Given the description of an element on the screen output the (x, y) to click on. 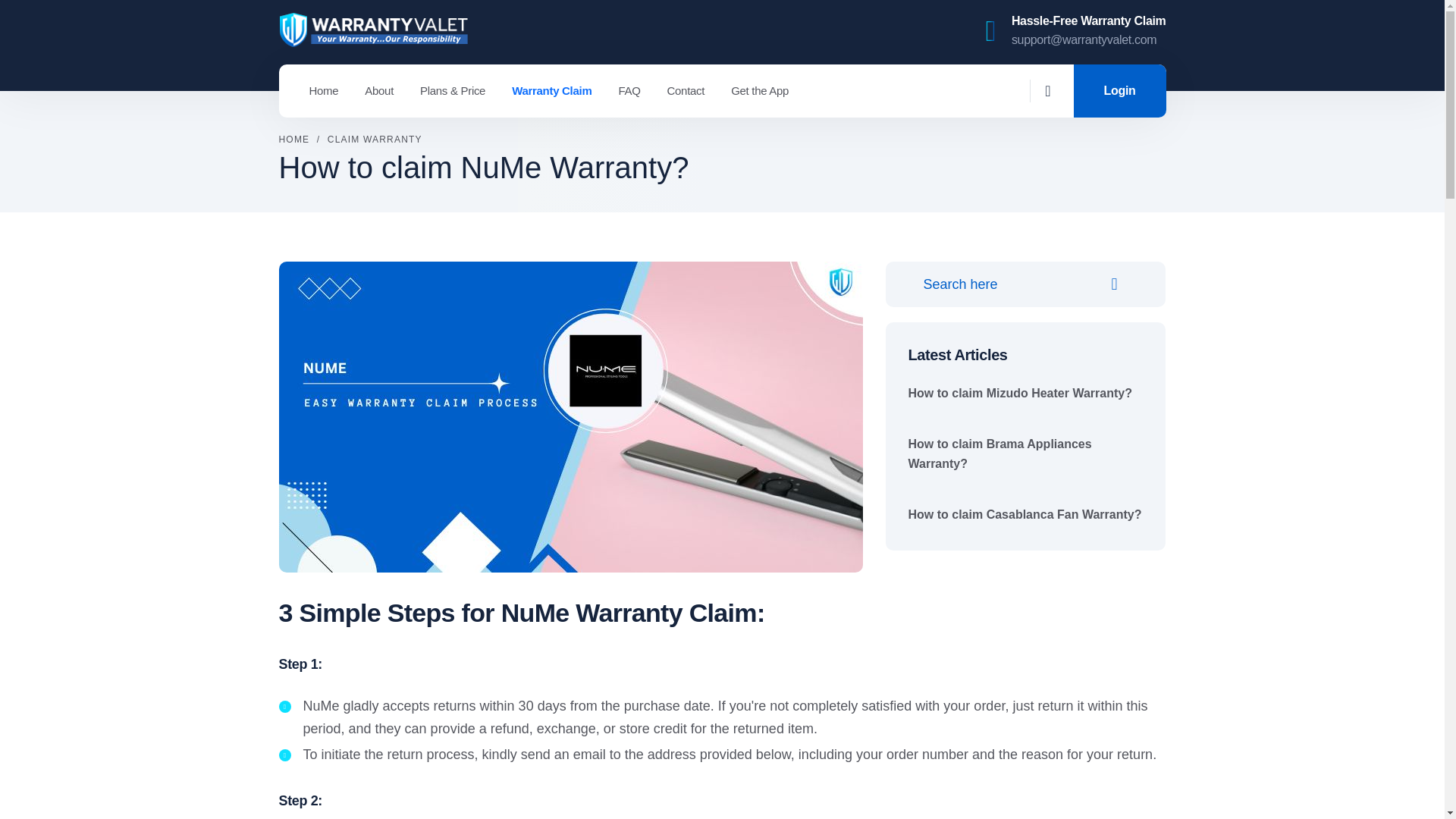
CLAIM WARRANTY (374, 139)
About (379, 90)
Home (323, 90)
HOME (294, 139)
FAQ (628, 90)
How to claim Mizudo Heater Warranty? (1020, 392)
How to claim Brama Appliances Warranty? (1000, 453)
Contact (685, 90)
Login (1120, 90)
How to claim Casablanca Fan Warranty? (1024, 513)
Warranty Claim (551, 90)
Get the App (759, 90)
